Given the description of an element on the screen output the (x, y) to click on. 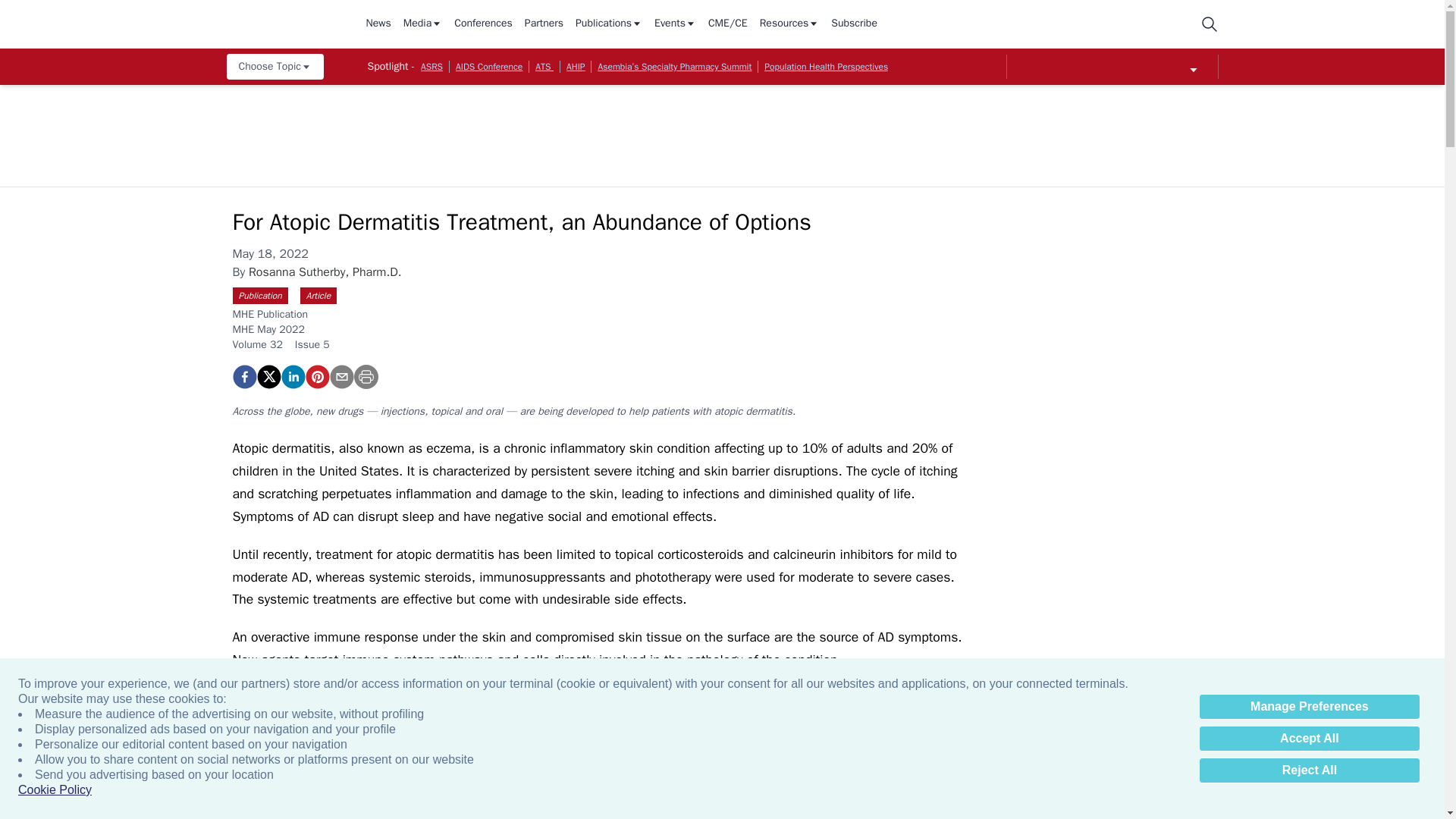
Events (674, 23)
Reject All (1309, 769)
Publications (608, 23)
Resources (789, 23)
Conferences (483, 23)
Partners (543, 23)
Choose Topic (274, 66)
Manage Preferences (1309, 706)
For Atopic Dermatitis Treatment, an Abundance of Options (243, 376)
Media (422, 23)
